Given the description of an element on the screen output the (x, y) to click on. 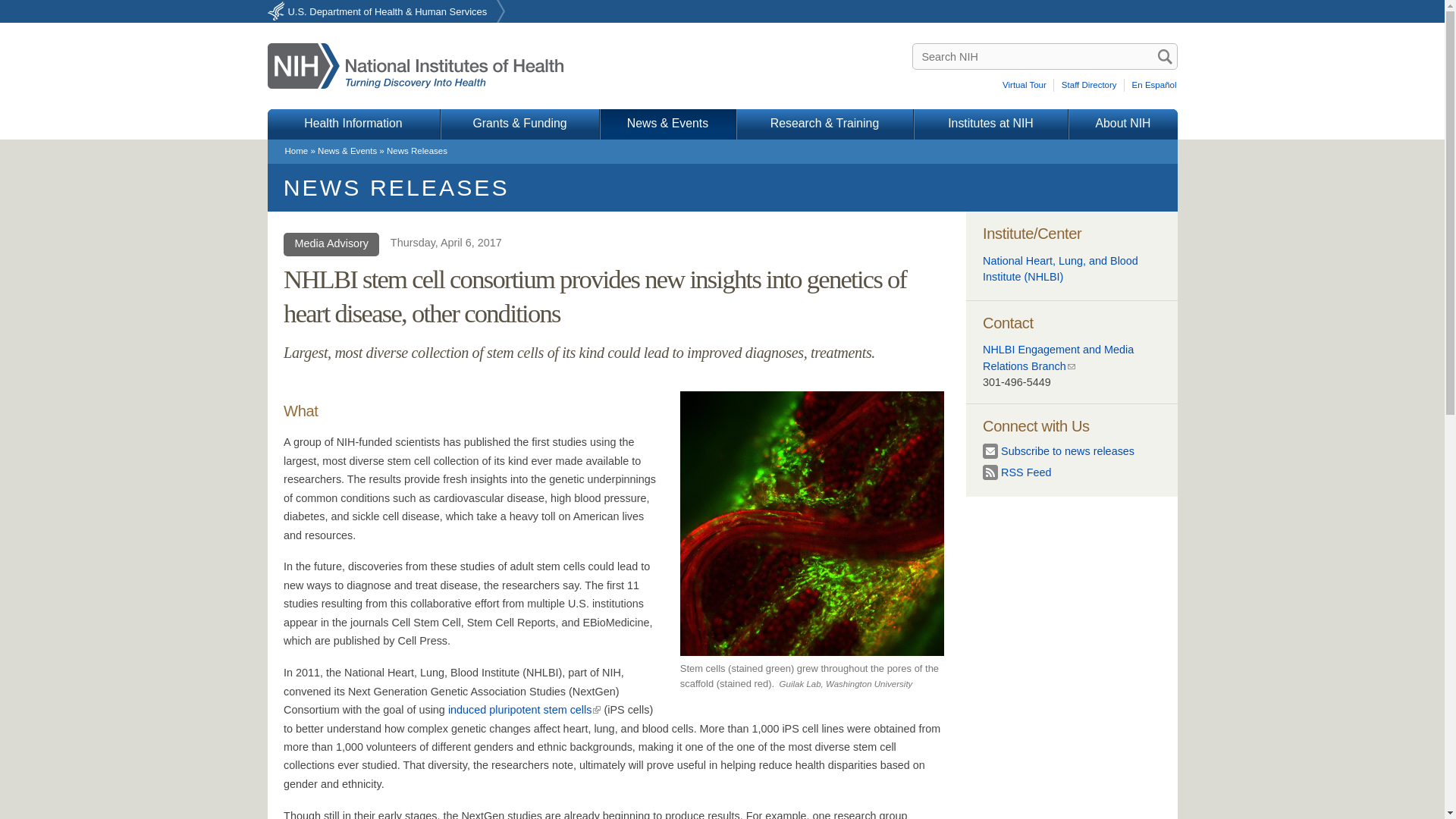
Virtual Tour (1026, 84)
Search (1164, 56)
Search (1164, 56)
Search (1164, 56)
Health Information (352, 123)
Staff Directory (1091, 84)
